Given the description of an element on the screen output the (x, y) to click on. 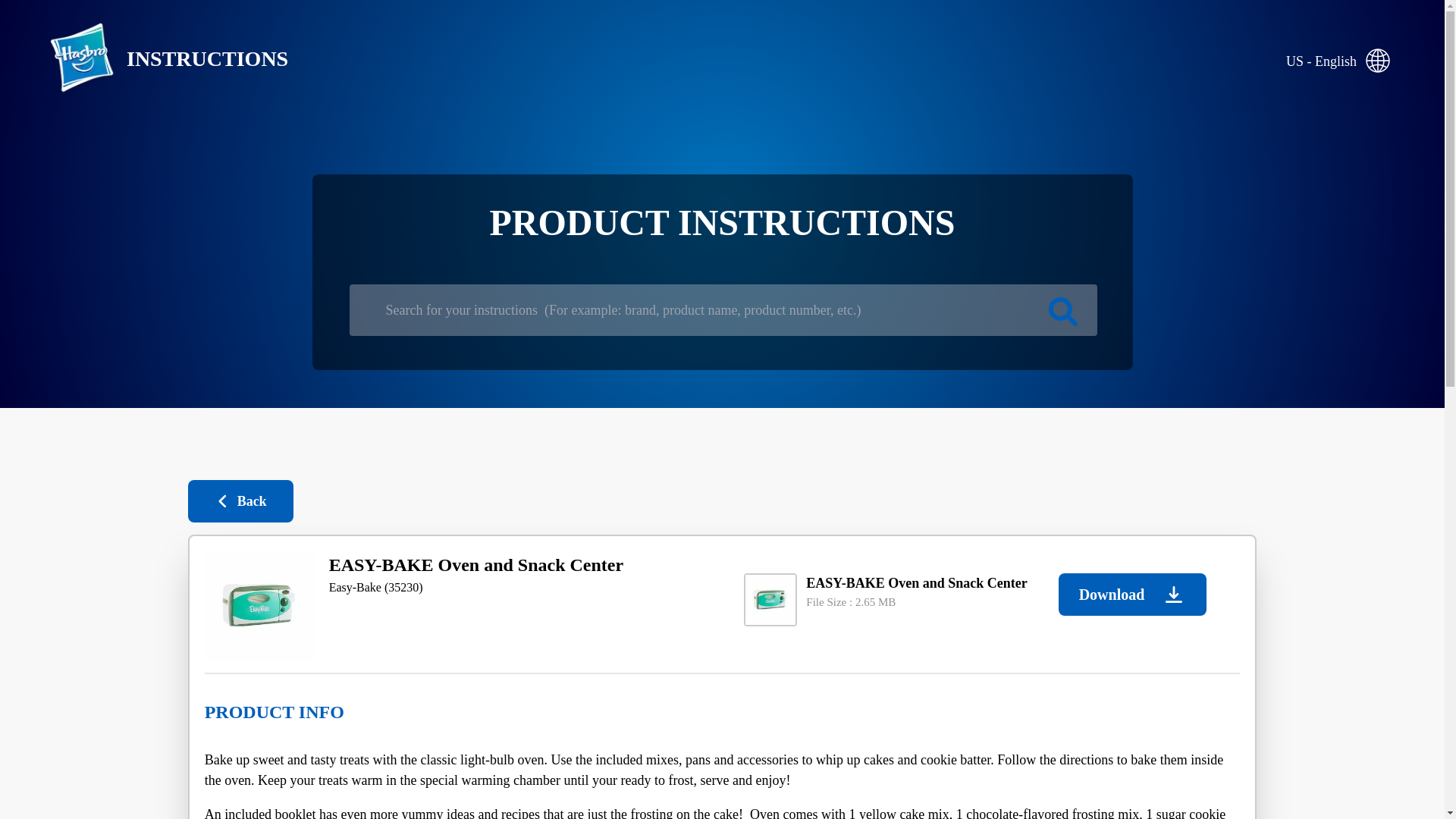
Download (1132, 594)
INSTRUCTIONS (156, 59)
Back (240, 500)
